Given the description of an element on the screen output the (x, y) to click on. 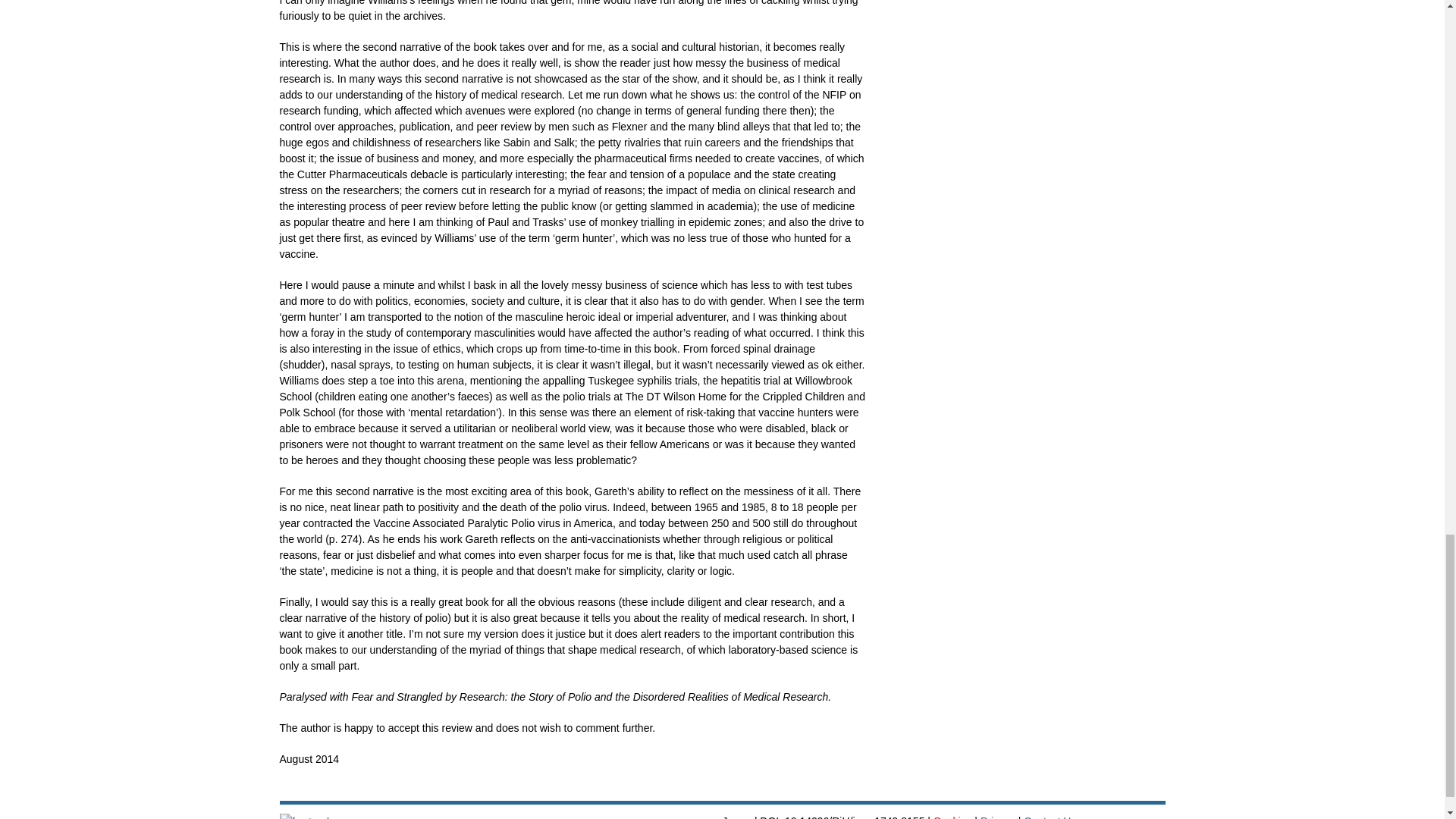
Contact Us (1049, 816)
Privacy (996, 816)
Cookies (952, 816)
